Given the description of an element on the screen output the (x, y) to click on. 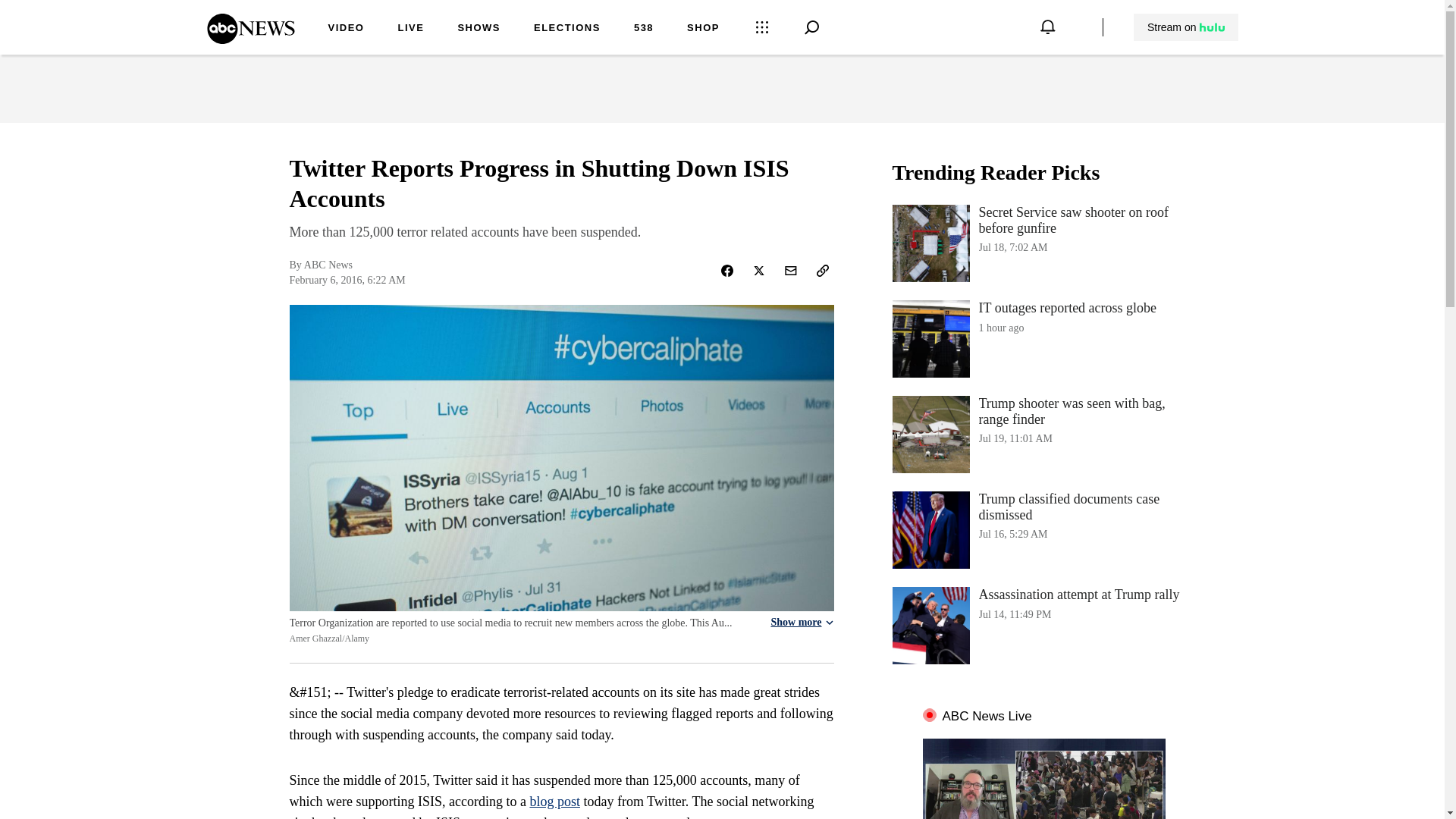
Stream on (1186, 26)
VIDEO (345, 28)
Show more (801, 622)
538 (643, 28)
LIVE (410, 28)
SHOWS (478, 28)
Stream on (1185, 27)
ABC News (250, 38)
blog post (554, 801)
SHOP (703, 28)
ELECTIONS (566, 28)
